Given the description of an element on the screen output the (x, y) to click on. 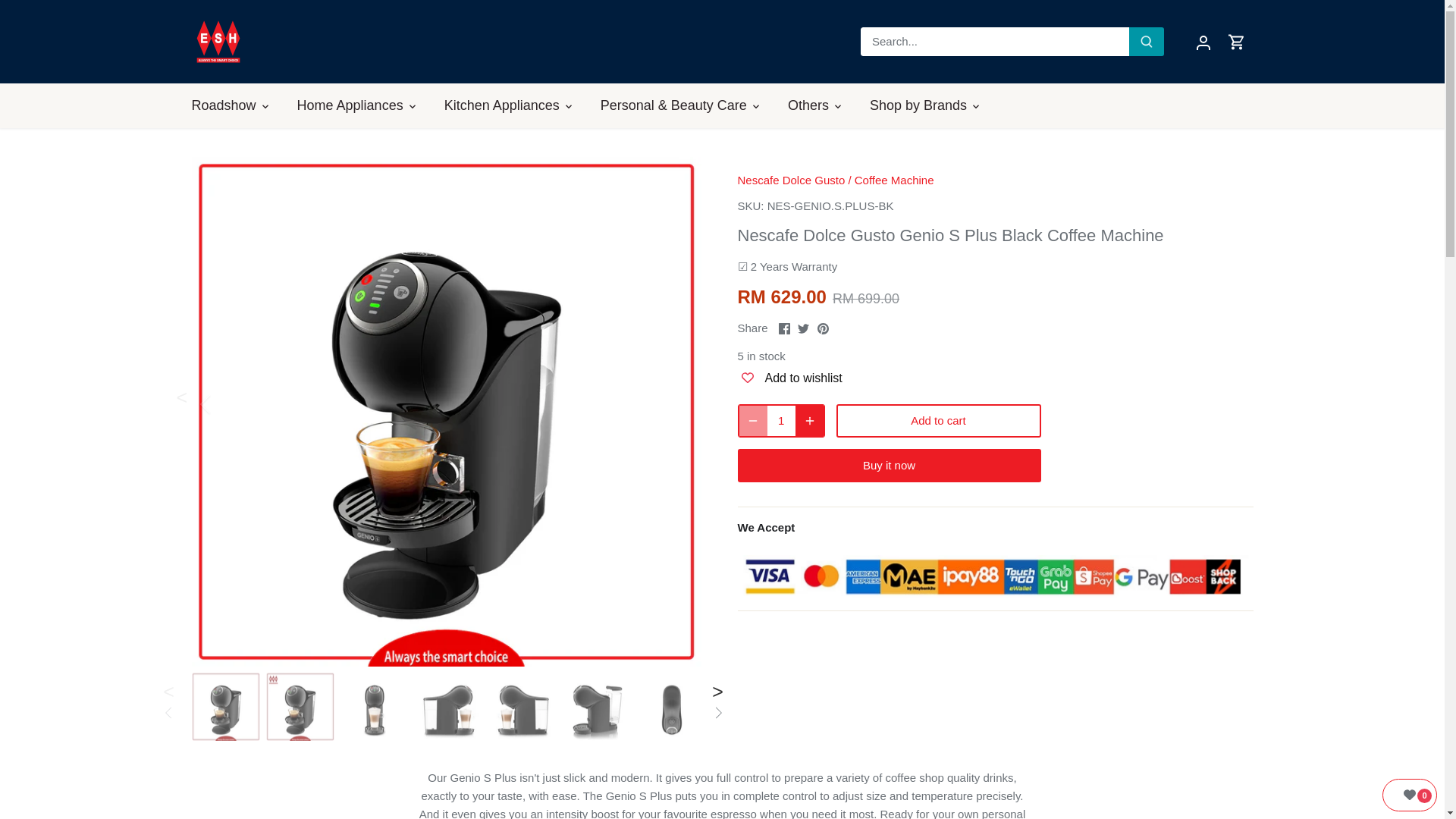
Roadshow (229, 105)
Pinterest (822, 328)
Twitter (803, 328)
Home Appliances (349, 105)
Facebook (784, 328)
1 (781, 420)
